Given the description of an element on the screen output the (x, y) to click on. 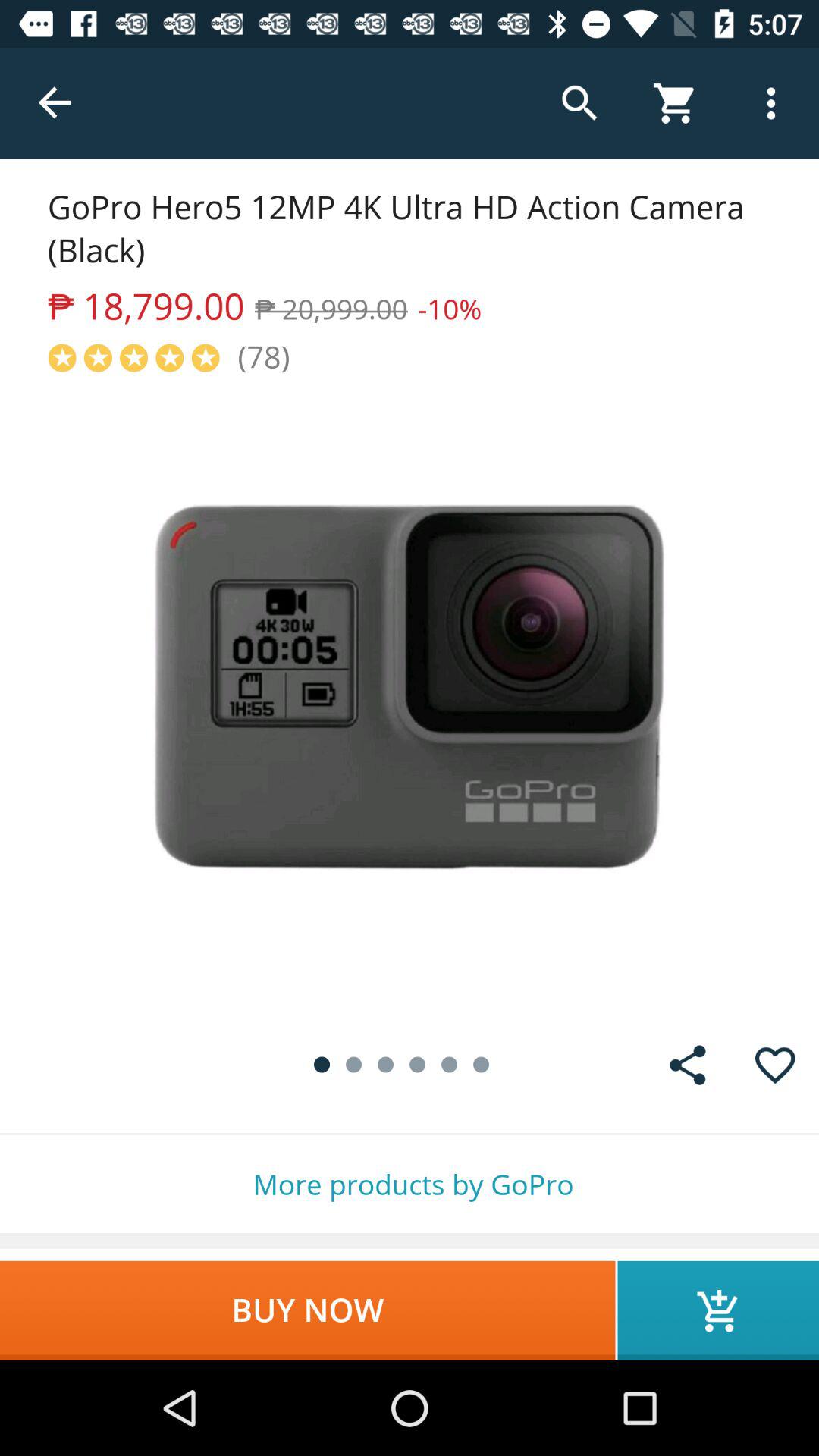
turn off icon to the right of buy now item (718, 1310)
